Given the description of an element on the screen output the (x, y) to click on. 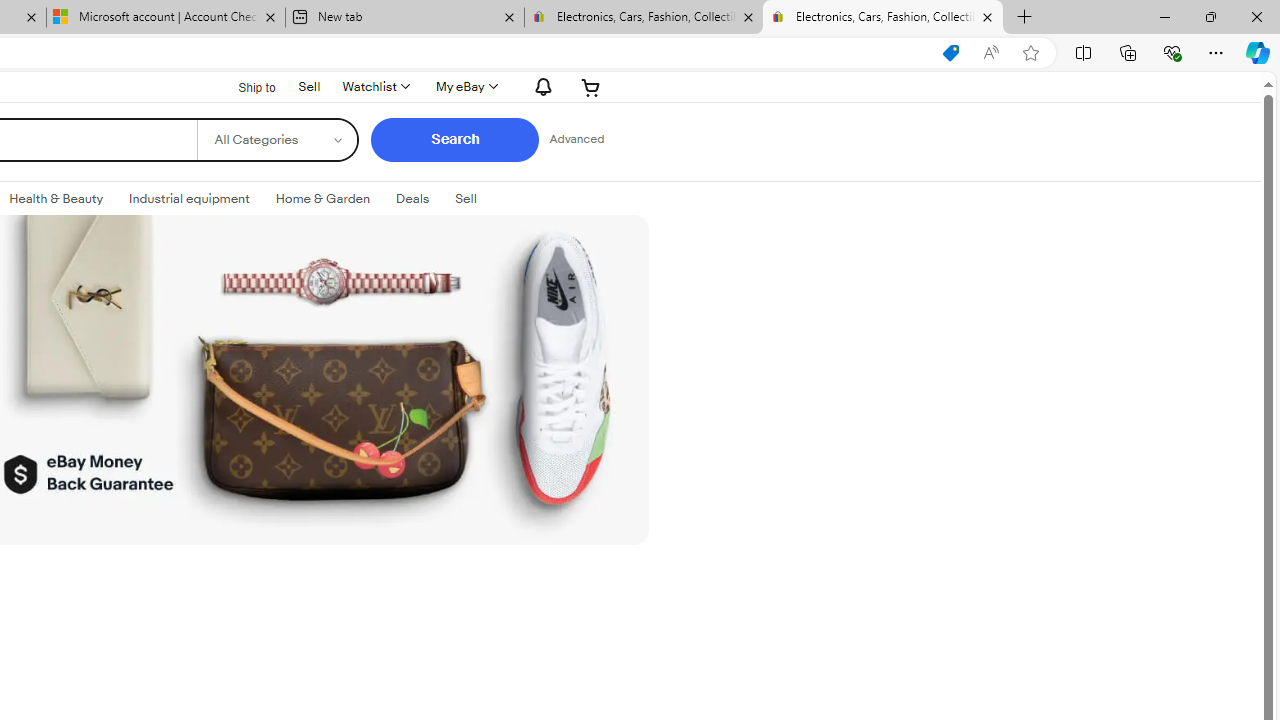
Your shopping cart (591, 86)
Ship to (244, 85)
Home & GardenExpand: Home & Garden (323, 199)
SellExpand: Sell (465, 199)
Deals (412, 199)
WatchlistExpand Watch List (374, 86)
Expand Cart (591, 86)
